Given the description of an element on the screen output the (x, y) to click on. 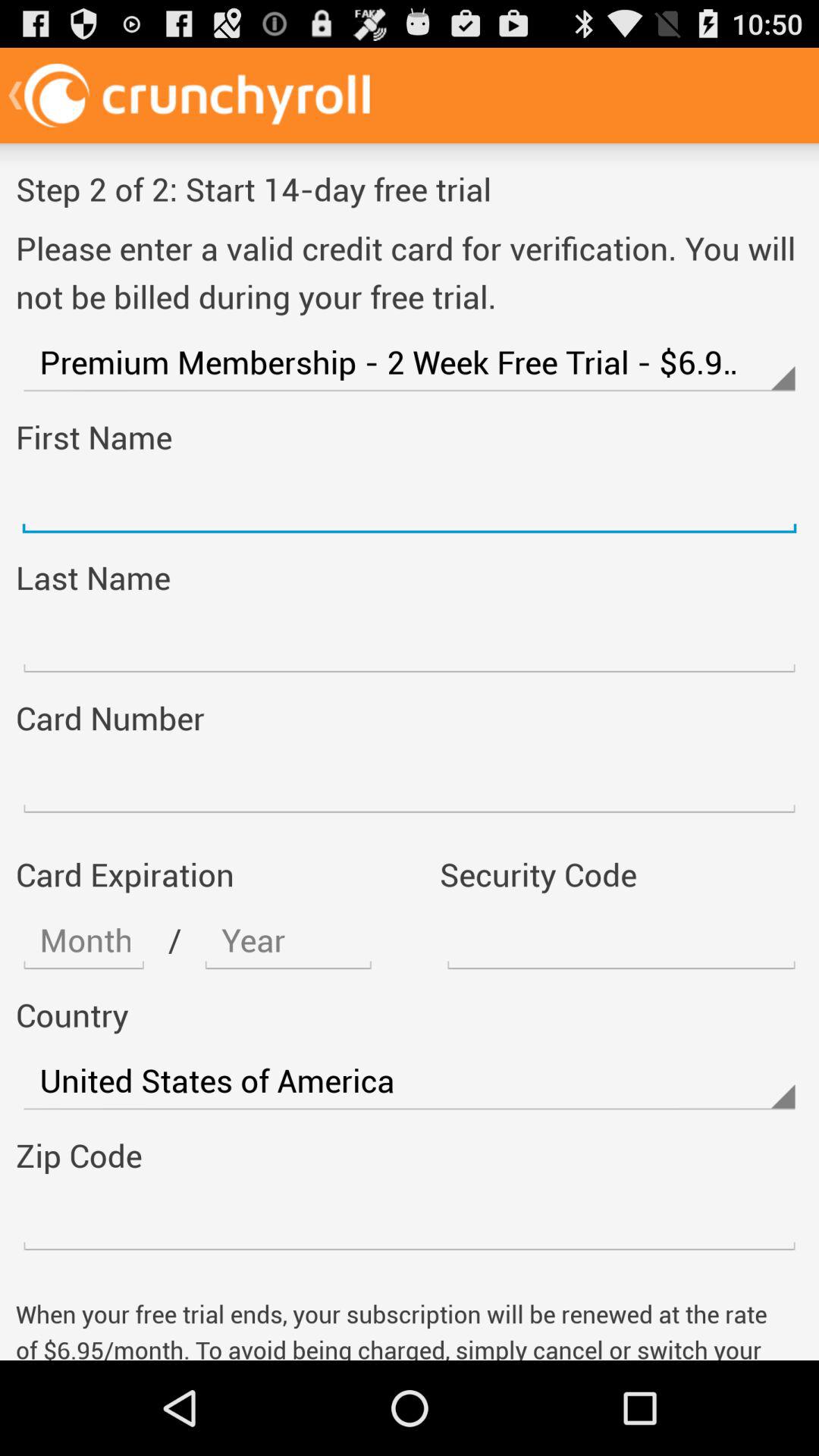
screen page (409, 643)
